Given the description of an element on the screen output the (x, y) to click on. 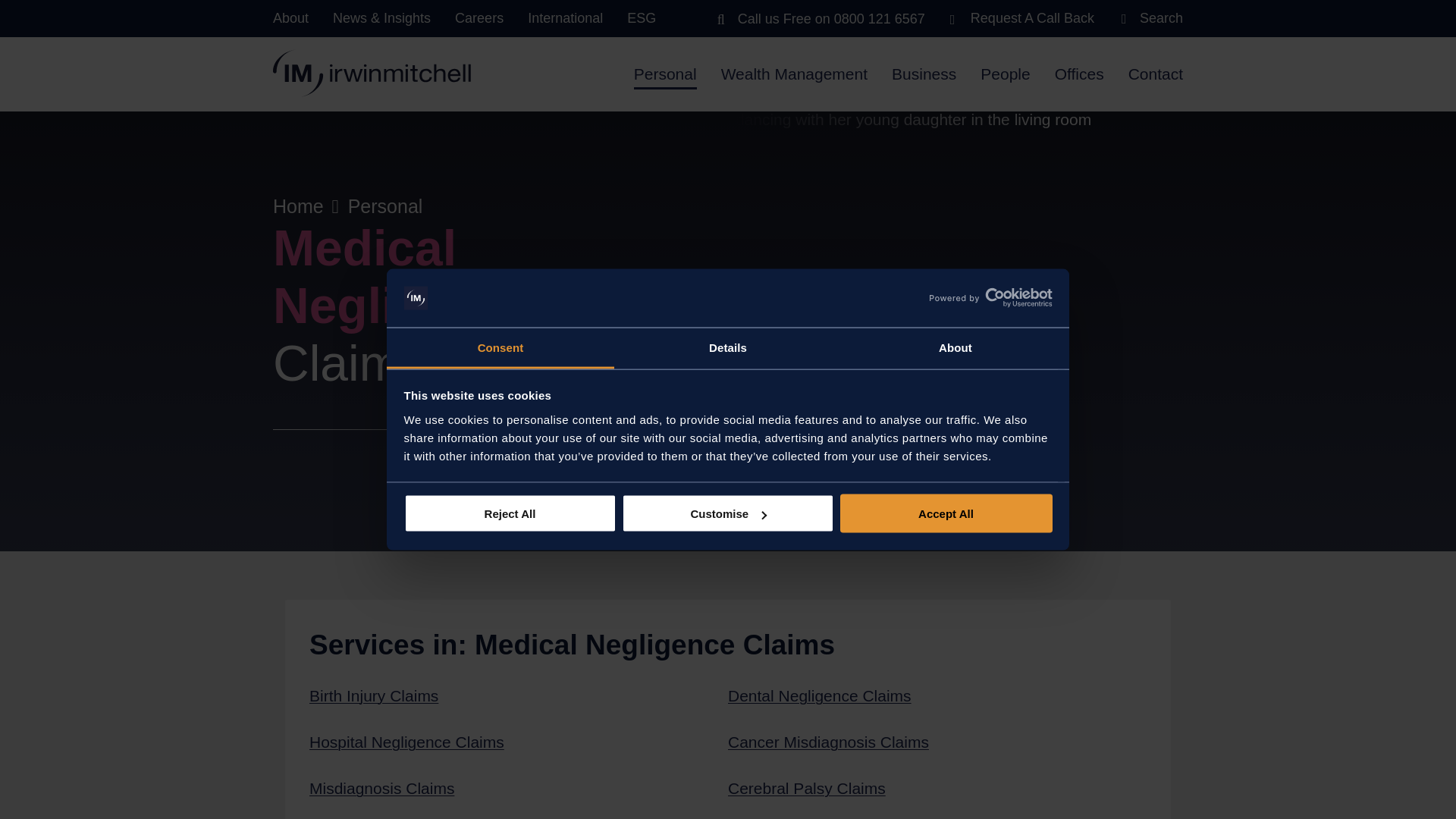
Consent (500, 347)
About (954, 347)
Details (727, 347)
